Given the description of an element on the screen output the (x, y) to click on. 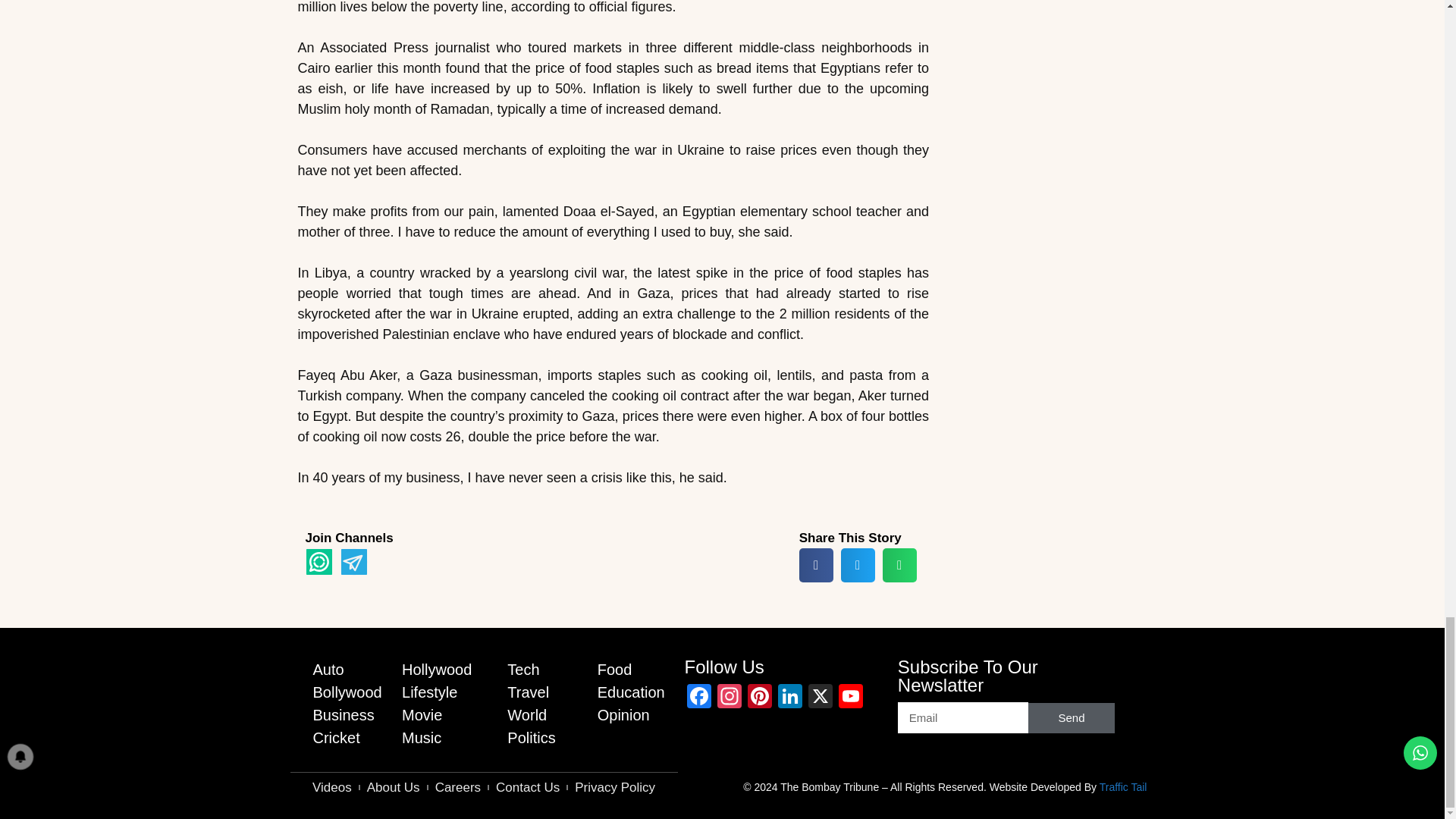
Instagram (729, 697)
Pinterest (759, 697)
X (820, 697)
LinkedIn Company (789, 697)
YouTube Channel (850, 697)
Facebook (699, 697)
